Given the description of an element on the screen output the (x, y) to click on. 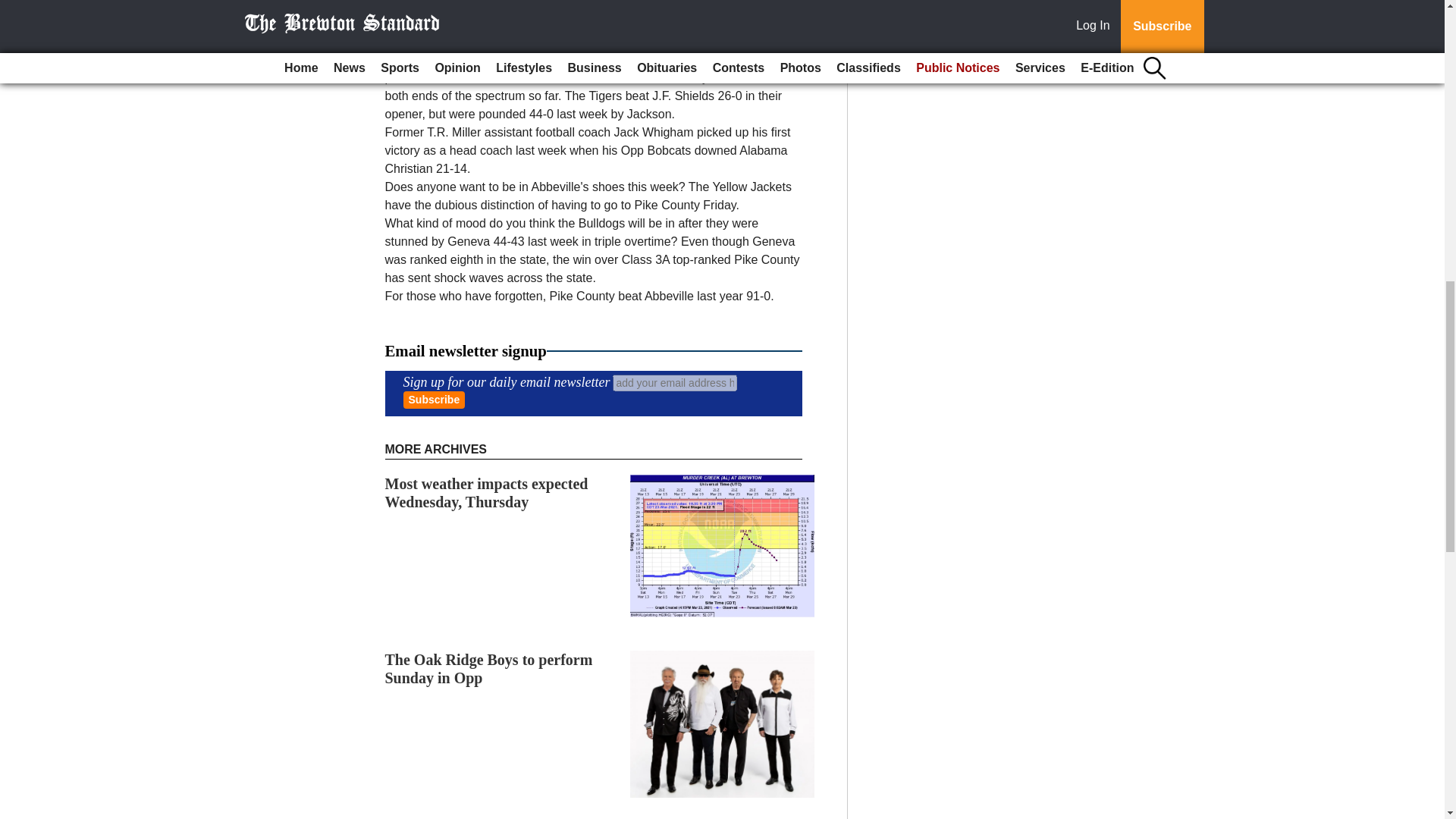
Most weather impacts expected Wednesday, Thursday (486, 492)
Subscribe (434, 399)
The Oak Ridge Boys to perform Sunday in Opp (488, 668)
Most weather impacts expected Wednesday, Thursday (486, 492)
Subscribe (434, 399)
The Oak Ridge Boys to perform Sunday in Opp (488, 668)
